Given the description of an element on the screen output the (x, y) to click on. 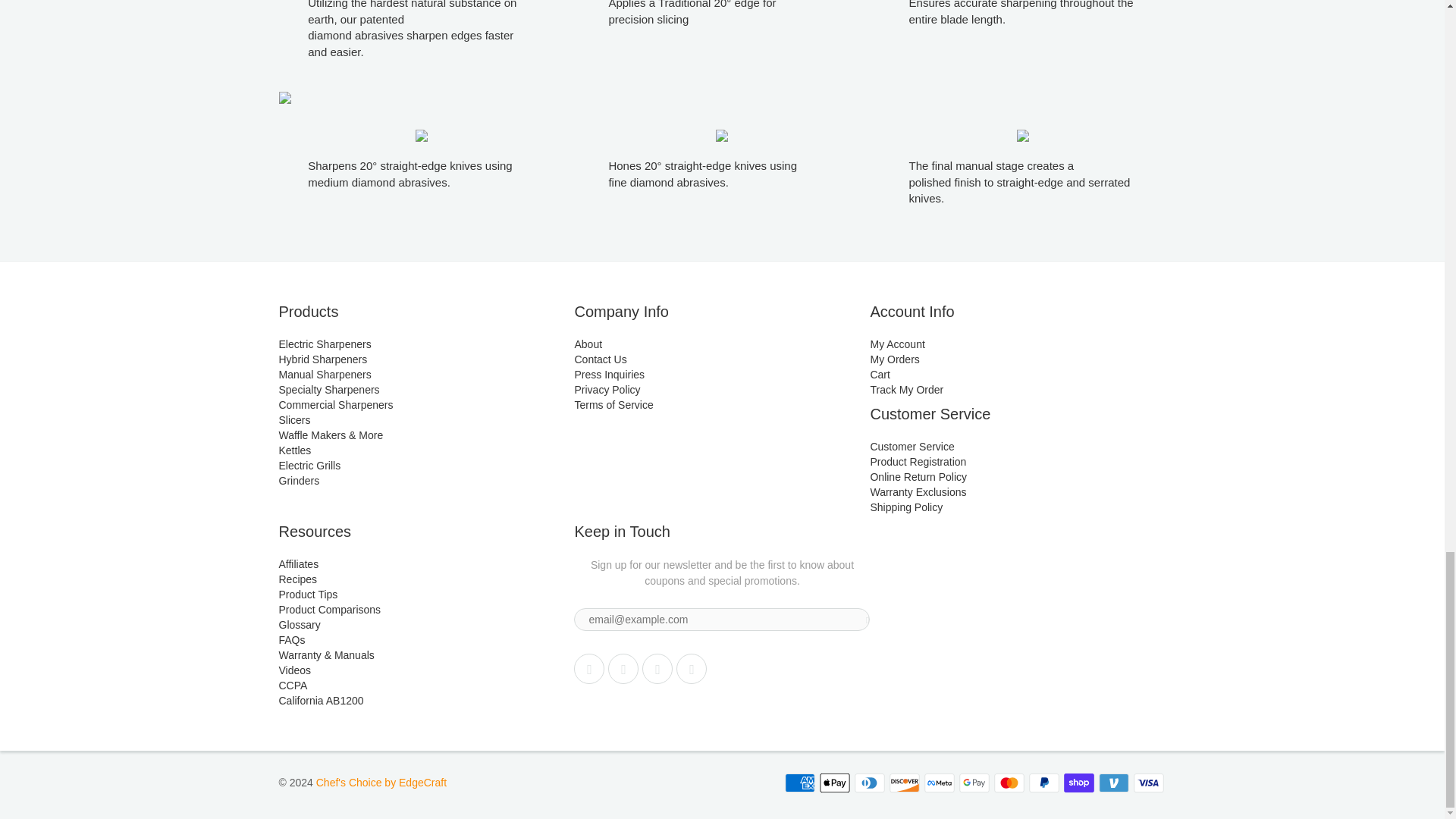
Facebook (623, 668)
American Express (798, 782)
PayPal (1042, 782)
Instagram (691, 668)
Shop Pay (1077, 782)
Pinterest (657, 668)
Discover (903, 782)
Mastercard (1007, 782)
Apple Pay (833, 782)
Twitter (588, 668)
Google Pay (973, 782)
Meta Pay (938, 782)
Venmo (1112, 782)
Visa (1147, 782)
Diners Club (868, 782)
